Given the description of an element on the screen output the (x, y) to click on. 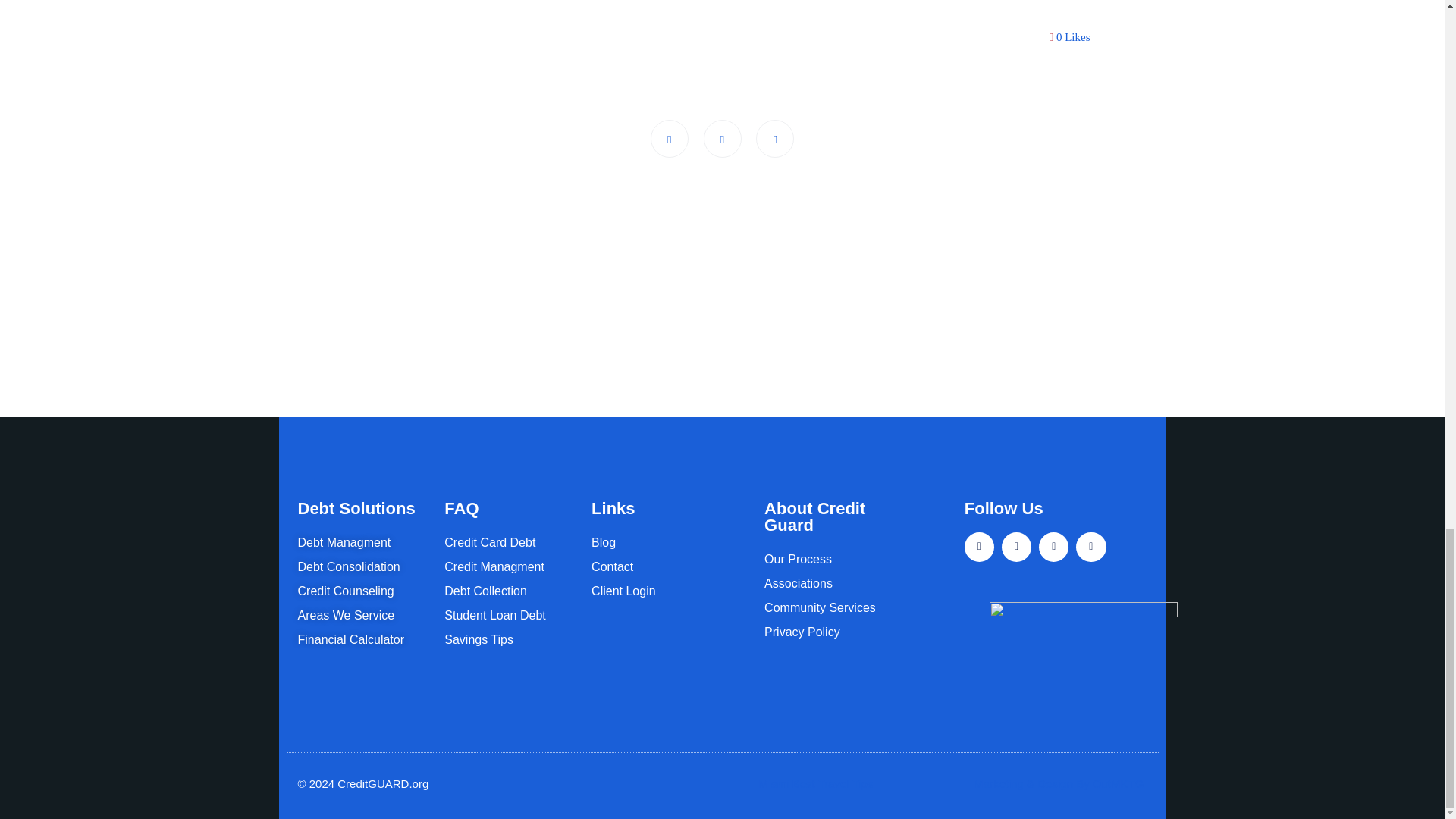
Debt Consolidation (363, 566)
0 Likes (1069, 37)
Debt Managment (363, 542)
Credit Counseling (363, 590)
Areas We Service (363, 615)
